Given the description of an element on the screen output the (x, y) to click on. 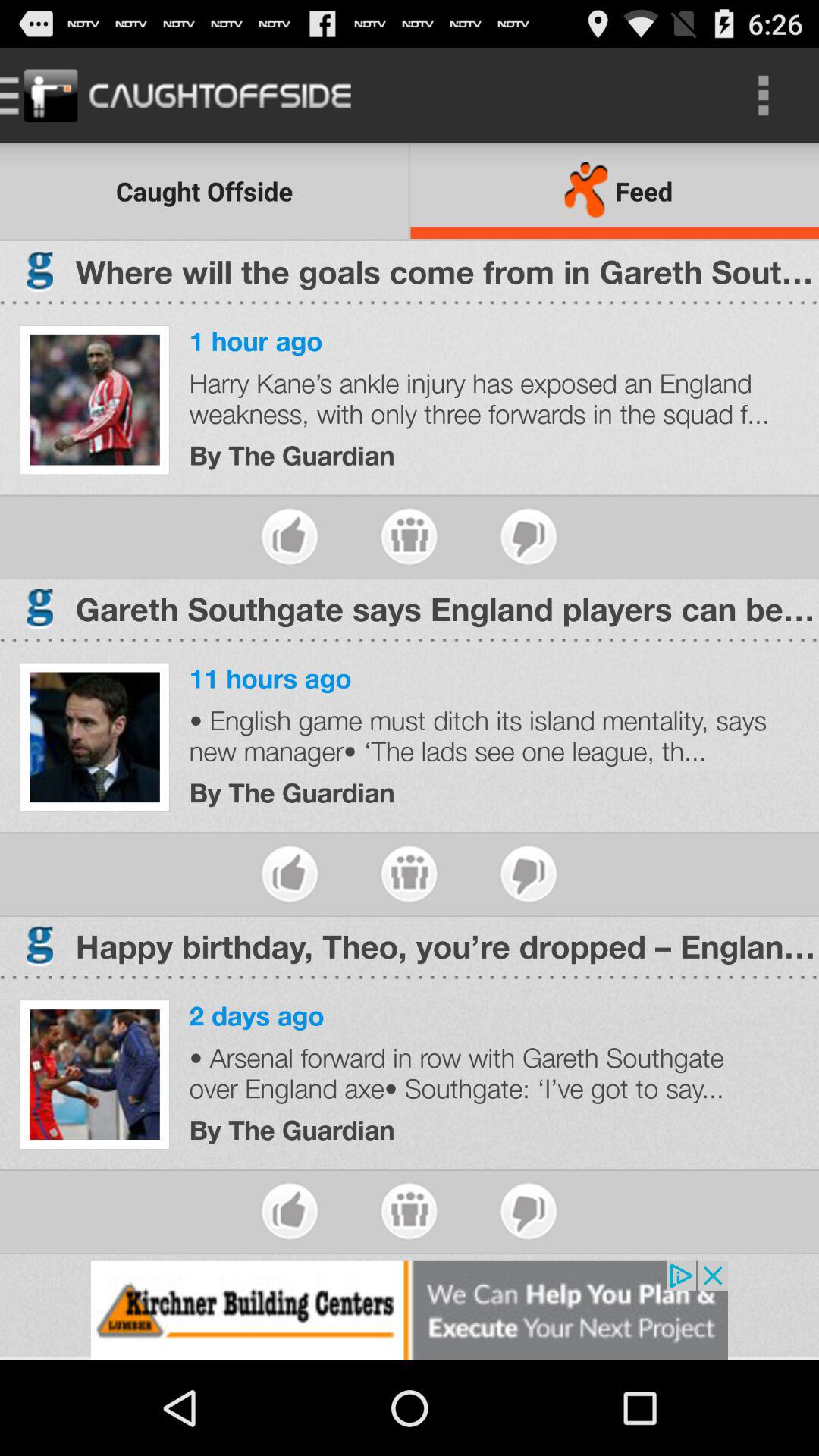
select the pop menu (409, 1211)
